Given the description of an element on the screen output the (x, y) to click on. 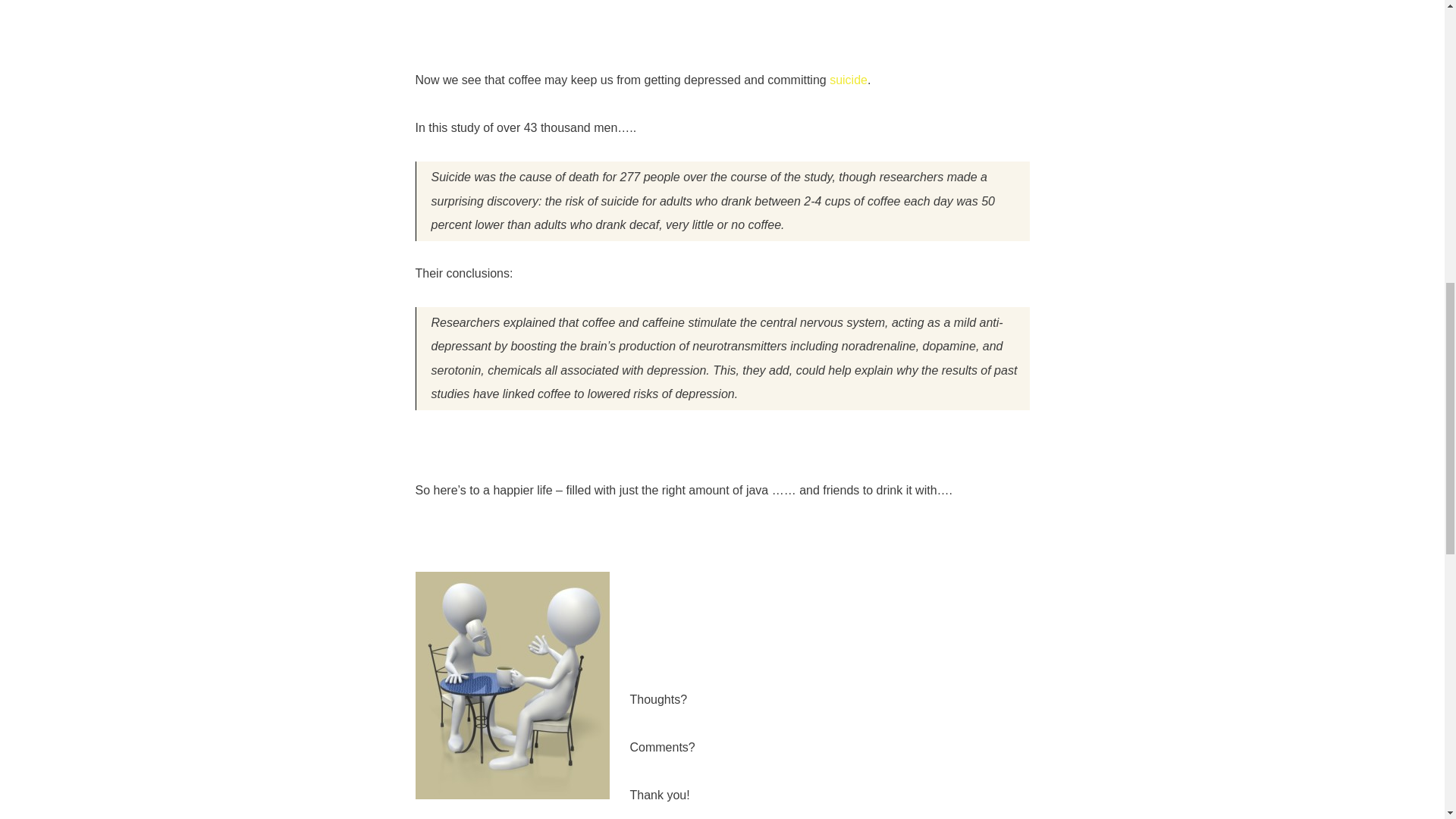
coffee and suicide (848, 79)
suicide (848, 79)
